Given the description of an element on the screen output the (x, y) to click on. 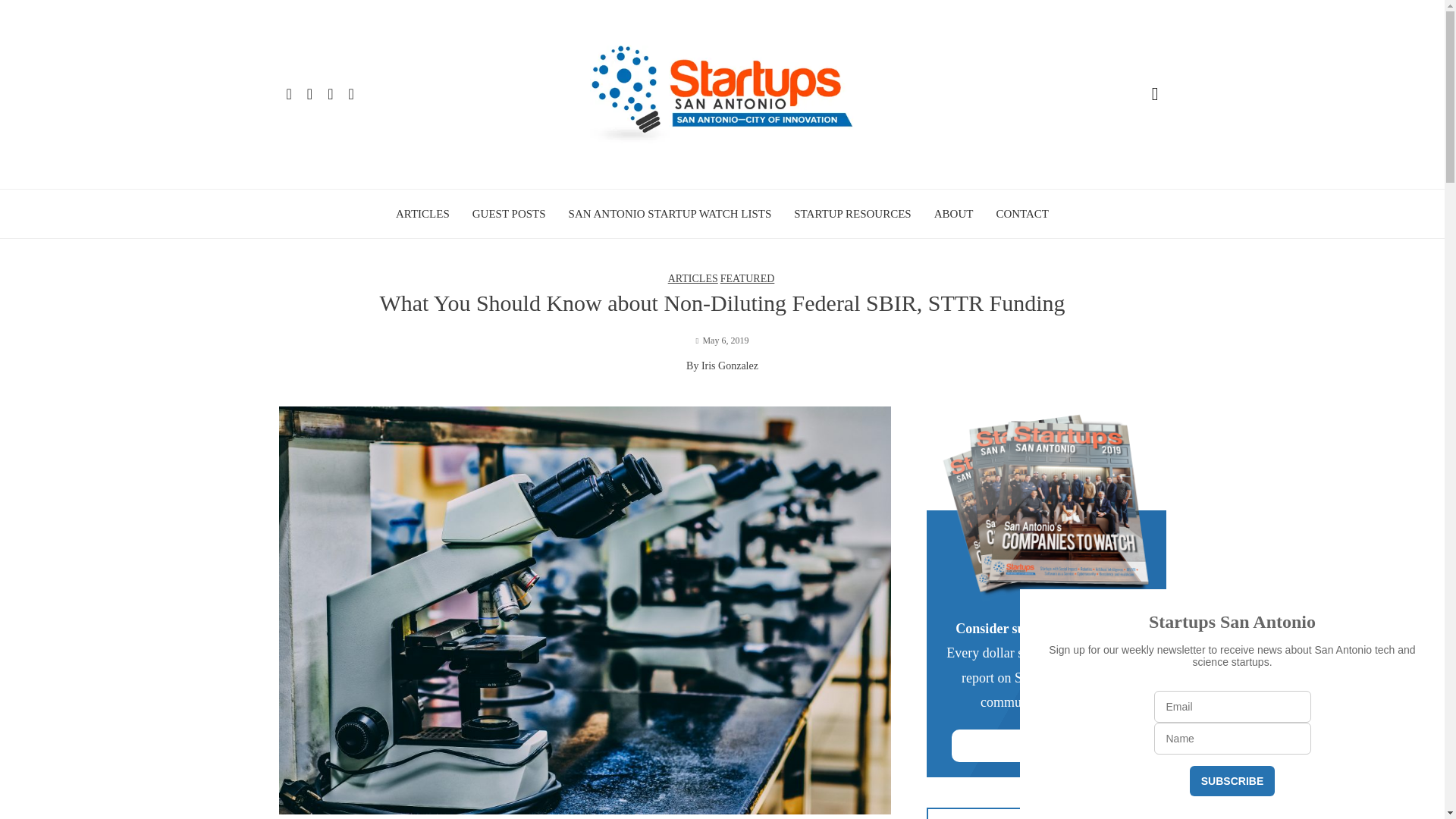
ABOUT (954, 213)
STARTUP RESOURCES (852, 213)
SAN ANTONIO STARTUP WATCH LISTS (670, 213)
ARTICLES (422, 213)
FEATURED (747, 278)
CONTACT (1021, 213)
San Antonio 2019 Startups Book (1045, 507)
GUEST POSTS (508, 213)
ARTICLES (692, 278)
